Given the description of an element on the screen output the (x, y) to click on. 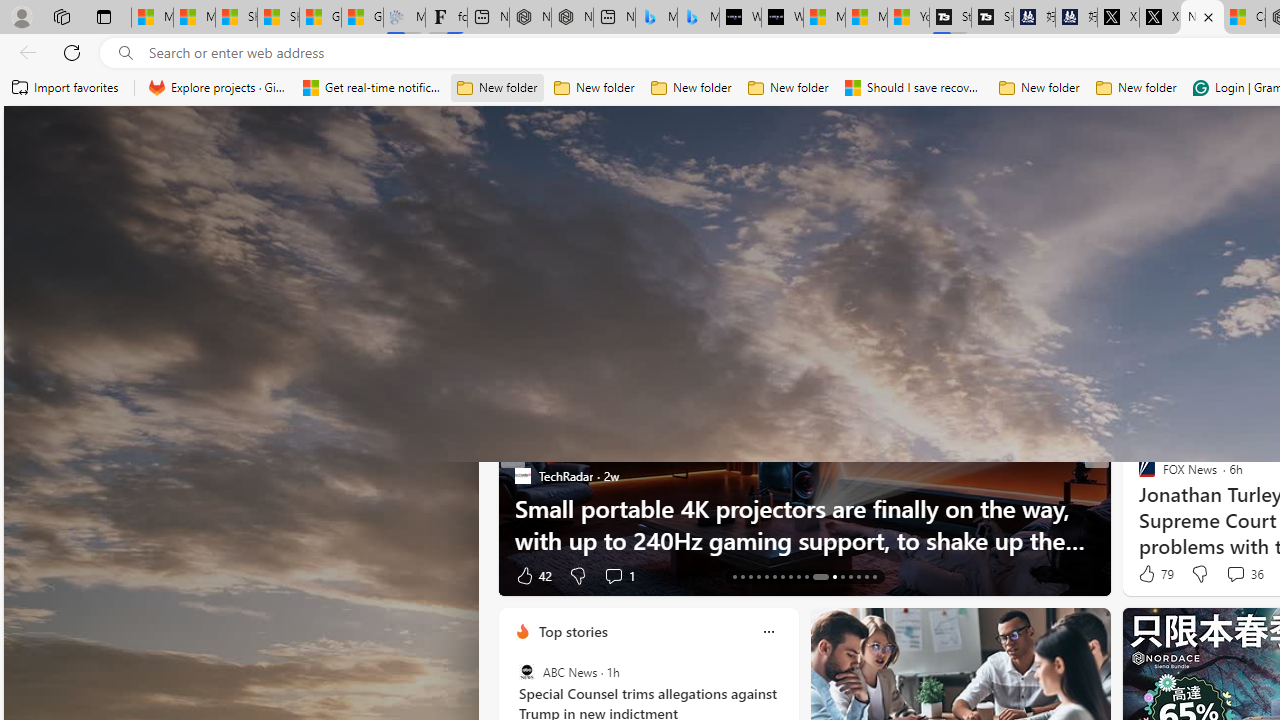
Nordace - #1 Japanese Best-Seller - Siena Smart Backpack (571, 17)
317 Like (1151, 574)
Start the conversation (1229, 574)
42 Like (532, 574)
Tab actions menu (104, 16)
AutomationID: tab-24 (827, 576)
Class: control (47, 138)
AutomationID: tab-19 (782, 576)
View comments 103 Comment (11, 575)
Gilma and Hector both pose tropical trouble for Hawaii (361, 17)
Streaming Coverage | T3 (950, 17)
Weather (1020, 265)
Top stories (572, 631)
Shanghai, China weather forecast | Microsoft Weather (278, 17)
